Given the description of an element on the screen output the (x, y) to click on. 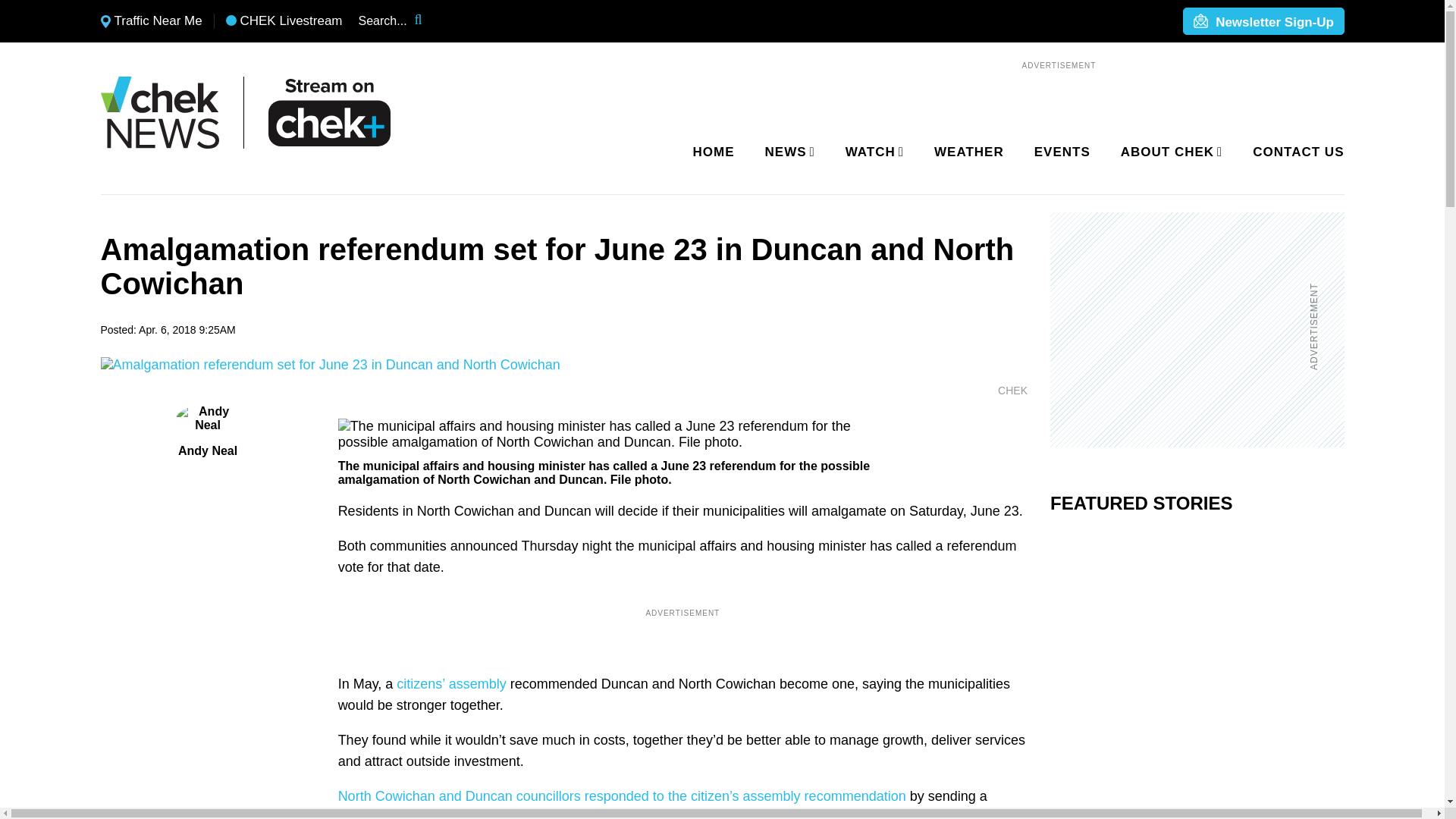
CHEK Livestream (283, 20)
HOME (714, 152)
Traffic Near Me (151, 20)
NEWS (787, 152)
Search (428, 21)
Newsletter Sign-Up (1262, 22)
